Given the description of an element on the screen output the (x, y) to click on. 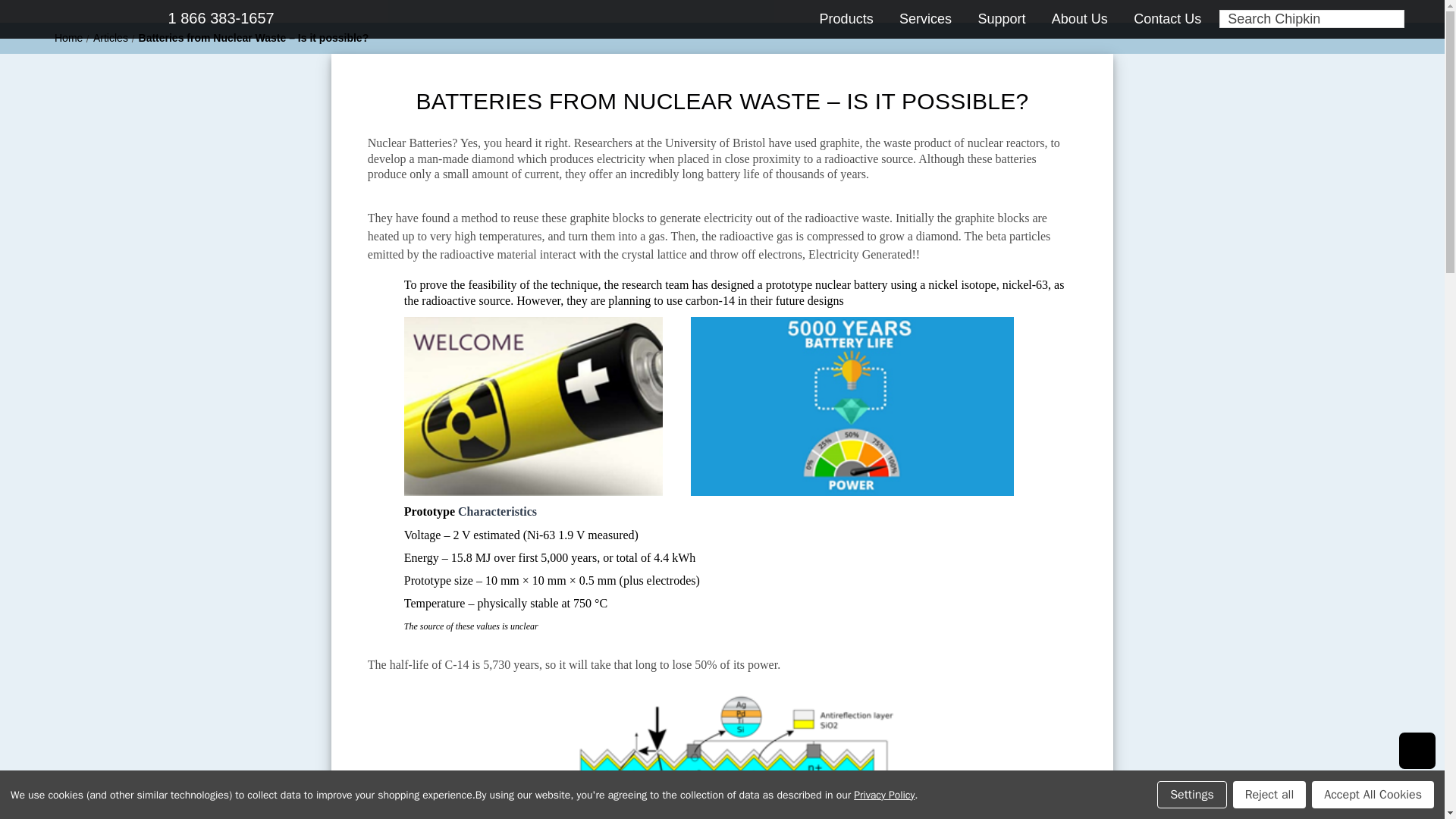
Products (853, 18)
Services (932, 18)
1 866 383-1657 (203, 17)
